Given the description of an element on the screen output the (x, y) to click on. 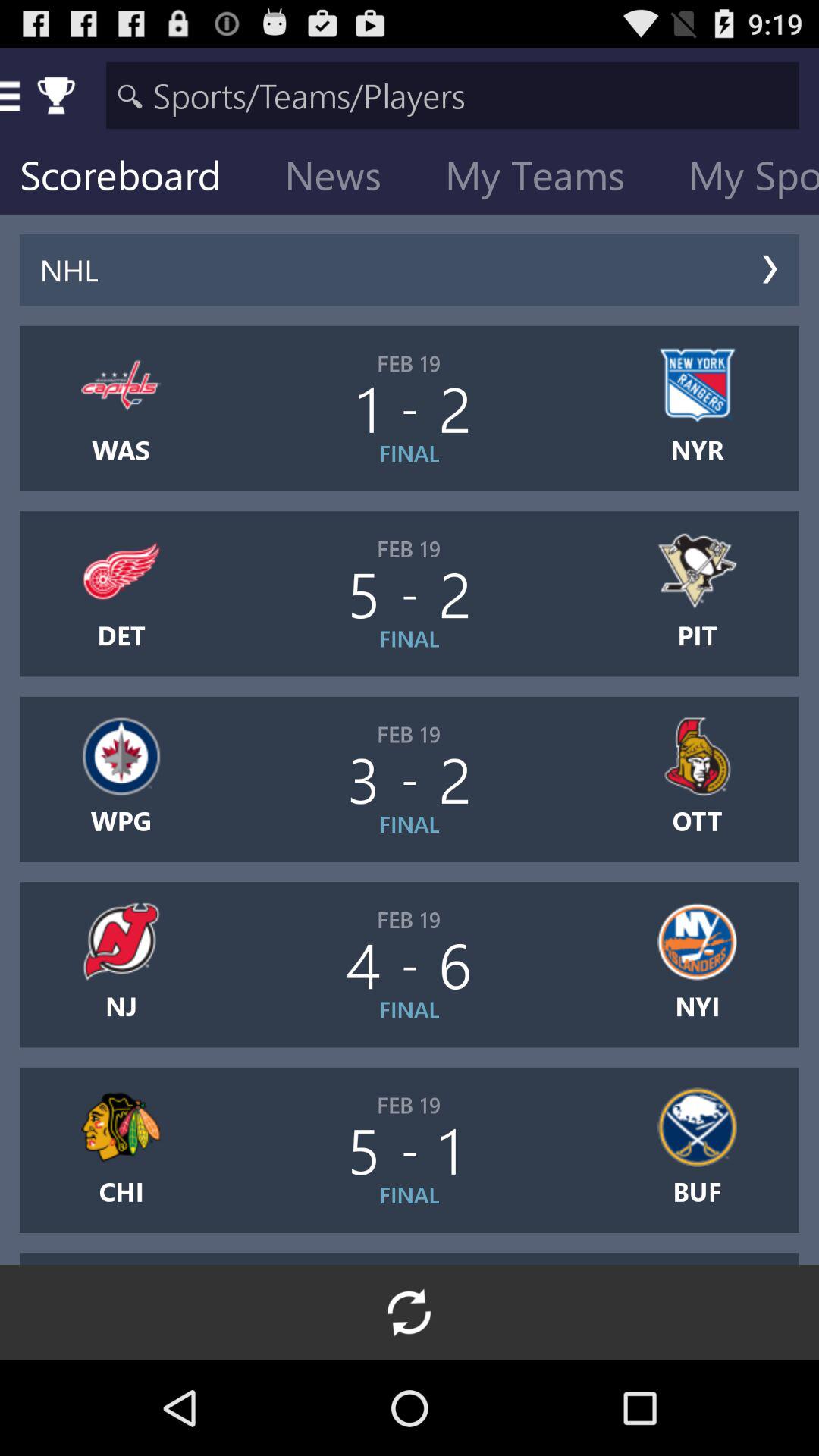
tap the icon above scoreboard icon (452, 95)
